Given the description of an element on the screen output the (x, y) to click on. 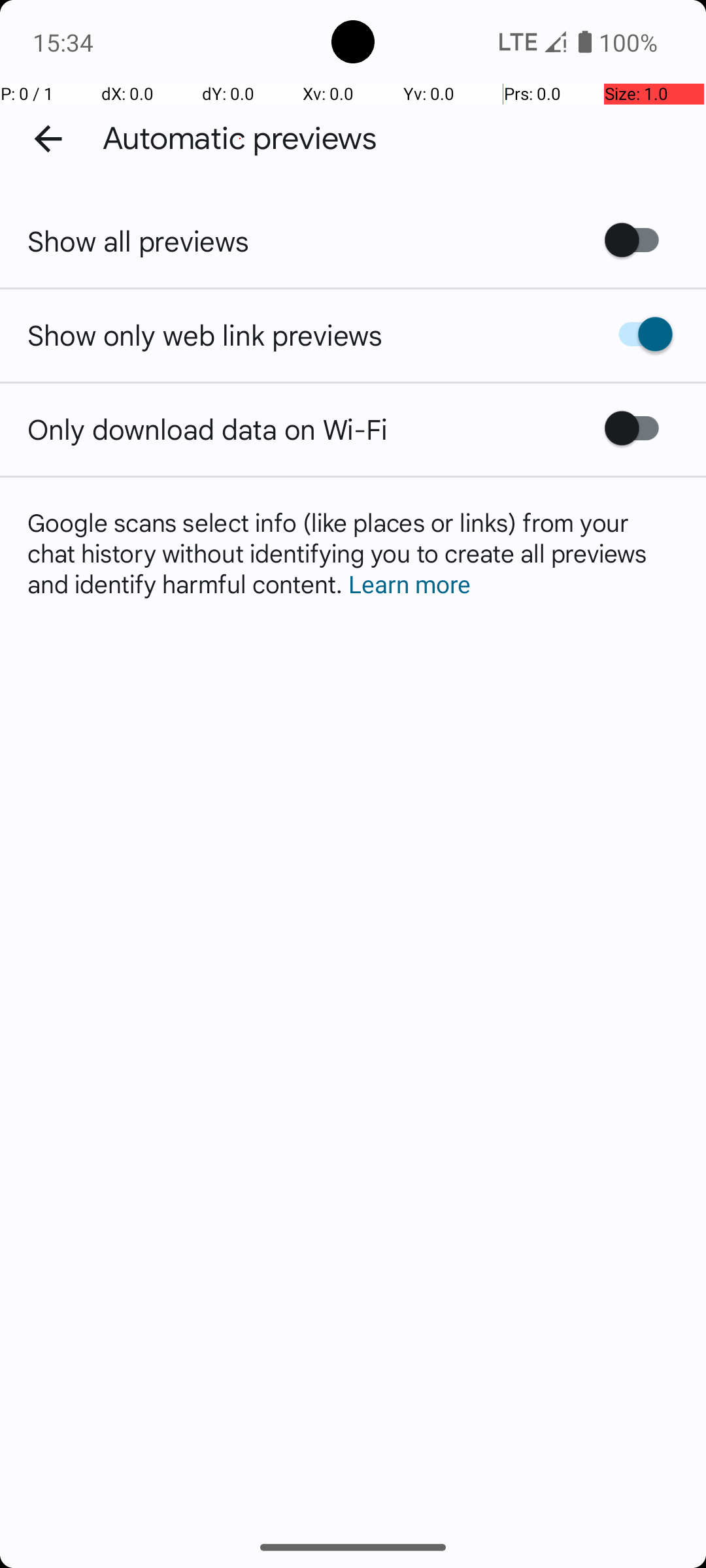
Automatic previews Element type: android.widget.TextView (239, 138)
Google scans select info (like places or links) from your chat history without identifying you to create all previews and identify harmful content. Learn more Element type: android.widget.TextView (353, 552)
Show all previews Element type: android.widget.TextView (138, 240)
Show only web link previews Element type: android.widget.TextView (205, 334)
Only download data on Wi-Fi Element type: android.widget.TextView (207, 428)
